Given the description of an element on the screen output the (x, y) to click on. 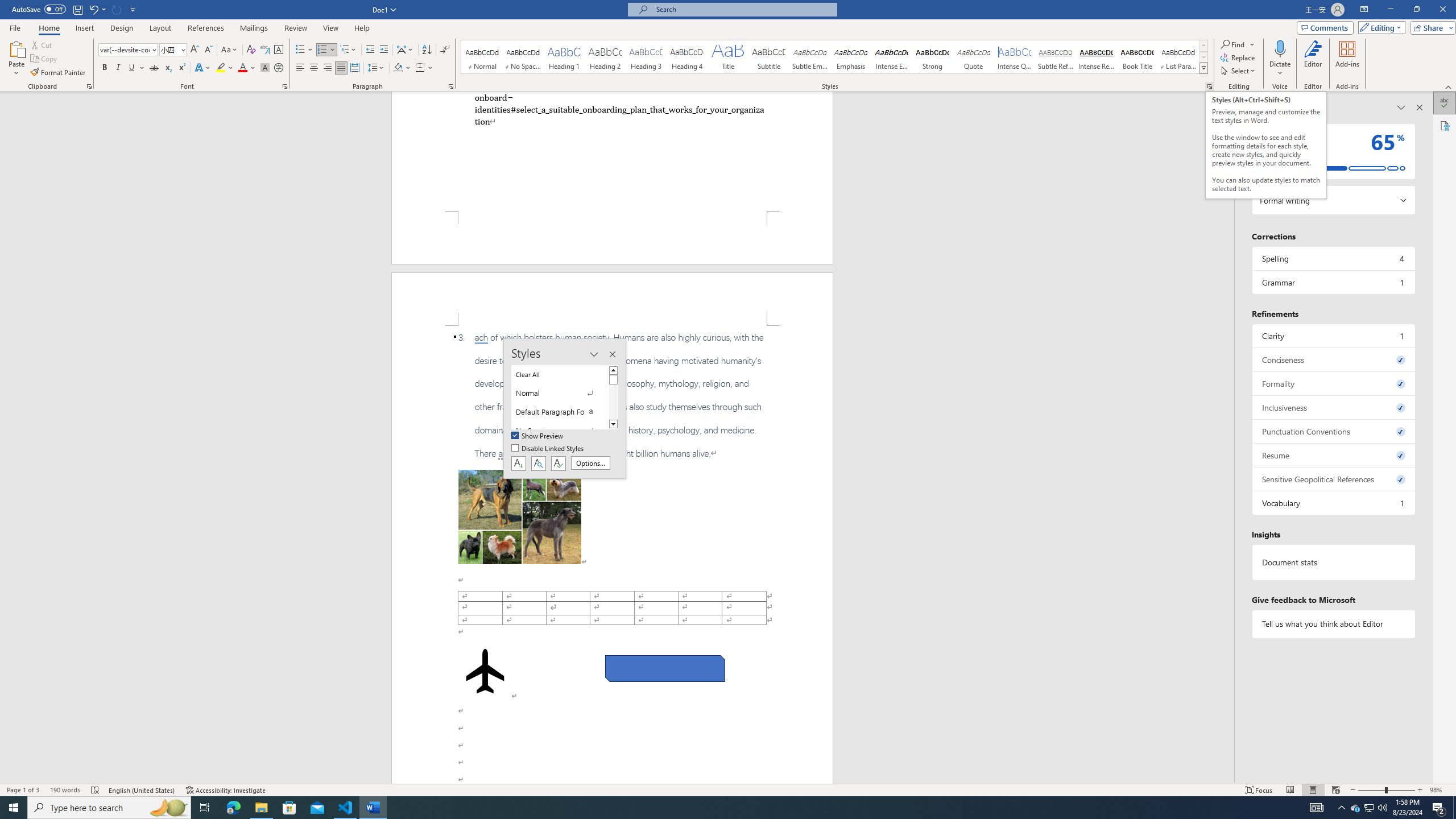
Subscript (167, 67)
Justify (340, 67)
Accessibility (1444, 125)
Class: NetUIButton (558, 463)
Cut (42, 44)
Show Preview (537, 436)
Format Painter (58, 72)
Zoom Out (1371, 790)
Change Case (229, 49)
Spelling, 4 issues. Press space or enter to review items. (1333, 258)
View (330, 28)
Open (182, 49)
Dictate (1280, 48)
